Given the description of an element on the screen output the (x, y) to click on. 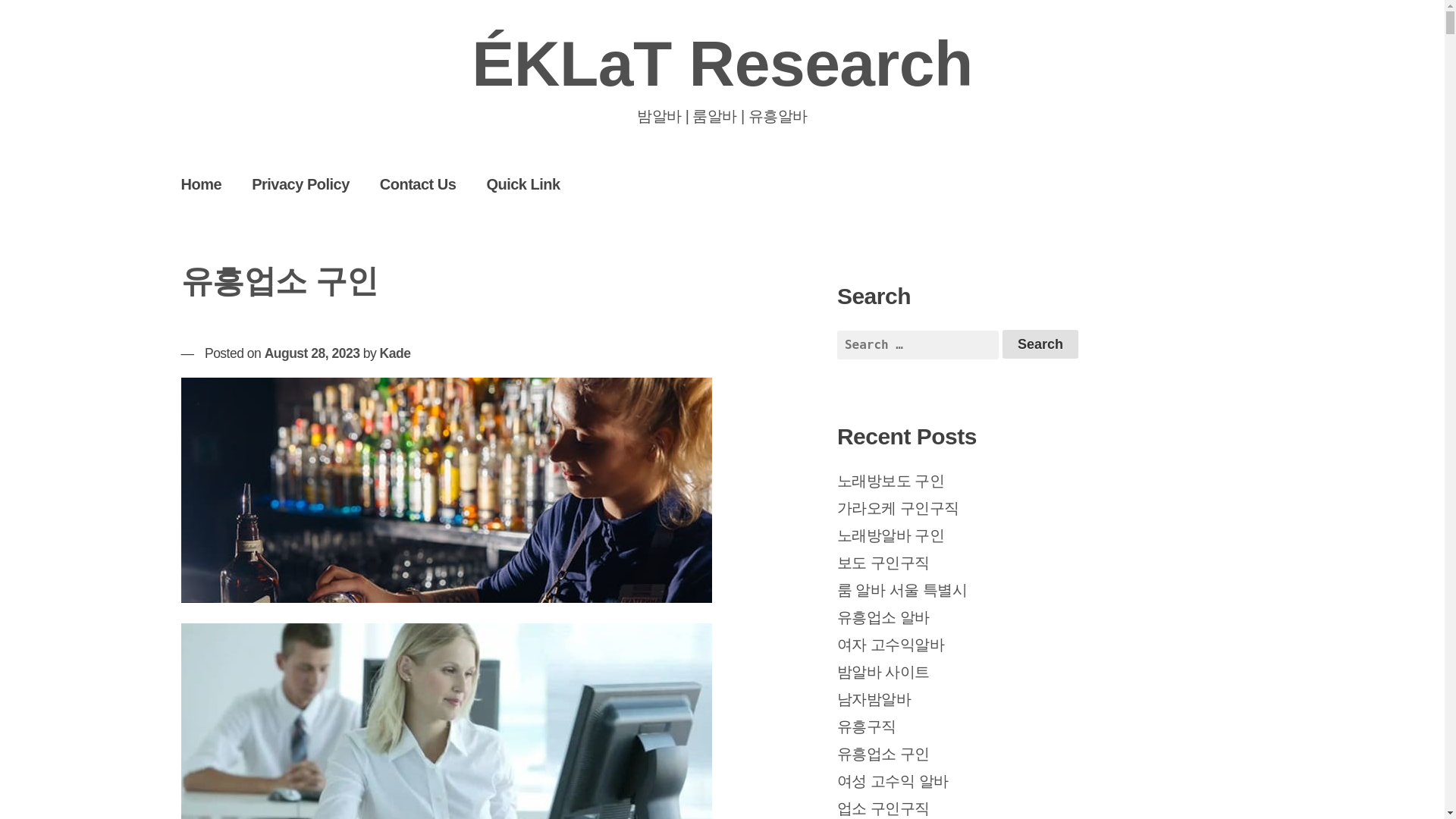
Contact Us (418, 183)
Search (1040, 344)
Quick Link (522, 183)
Kade (395, 353)
August 28, 2023 (311, 353)
Search (1040, 344)
Privacy Policy (300, 183)
Home (201, 183)
